Given the description of an element on the screen output the (x, y) to click on. 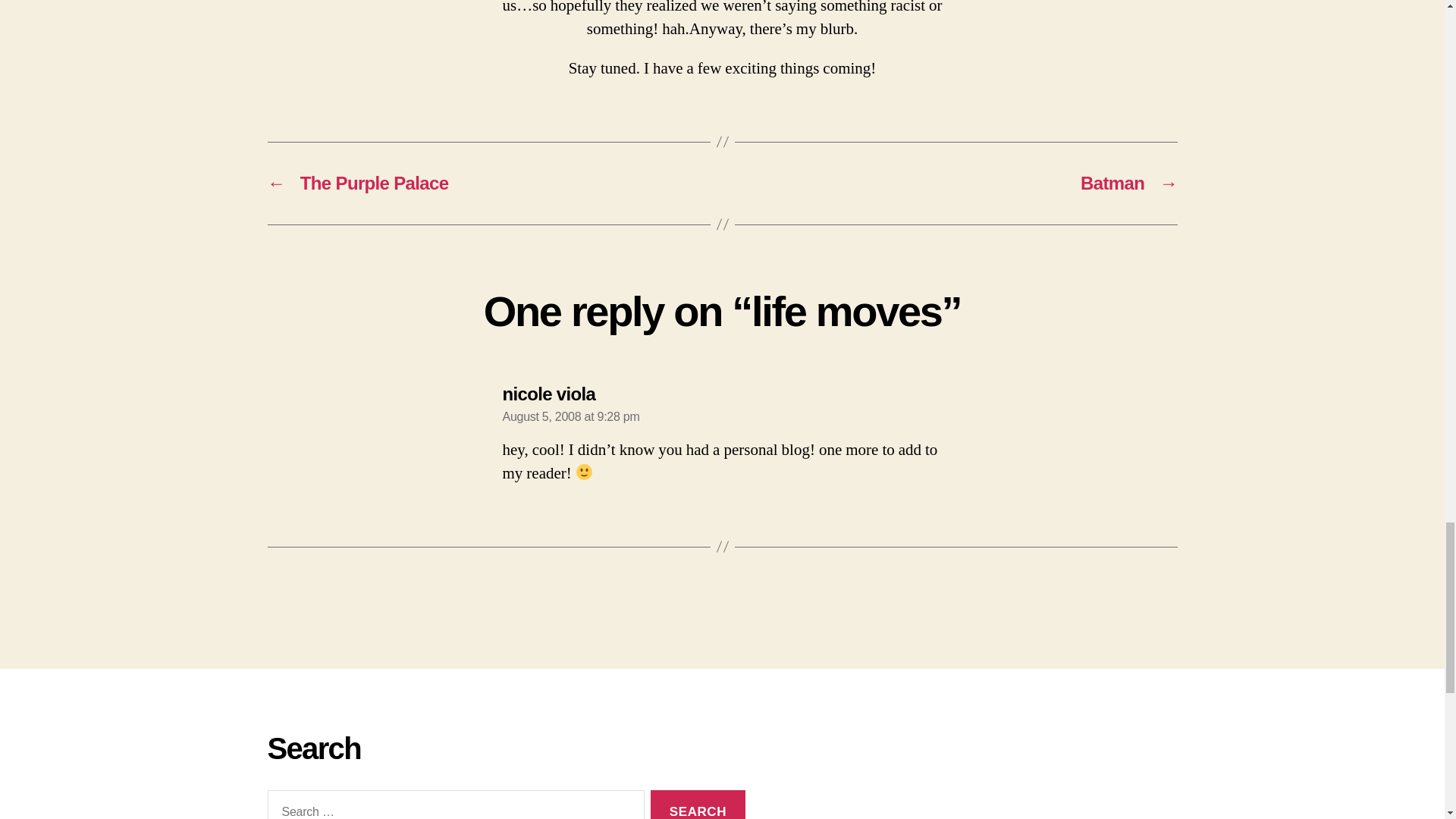
August 5, 2008 at 9:28 pm (570, 416)
Search (697, 804)
Search (697, 804)
Search (697, 804)
